Given the description of an element on the screen output the (x, y) to click on. 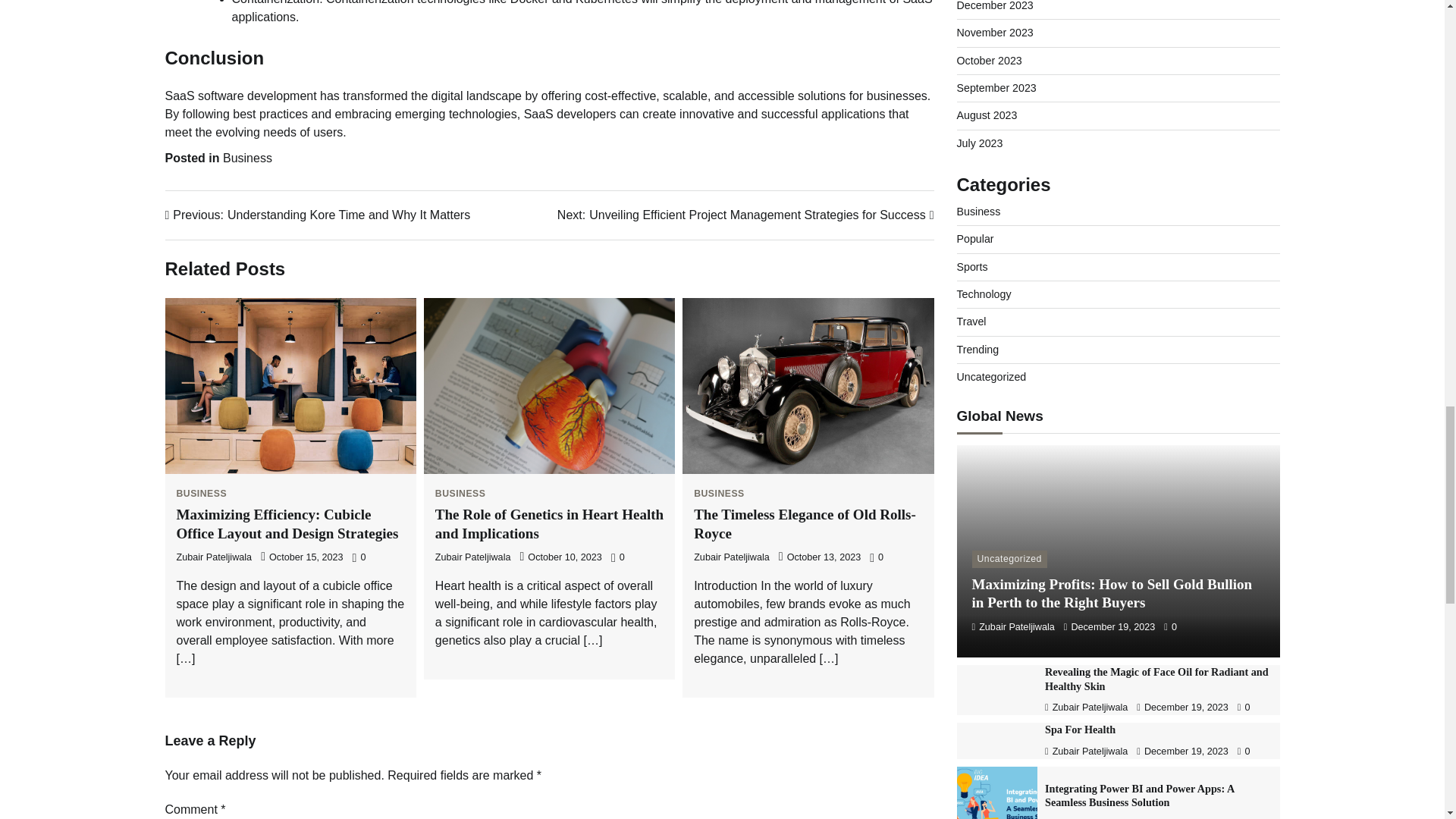
Zubair Pateljiwala (317, 215)
Zubair Pateljiwala (473, 557)
Business (213, 557)
The Role of Genetics in Heart Health and Implications (247, 157)
BUSINESS (549, 523)
BUSINESS (719, 492)
The Timeless Elegance of Old Rolls-Royce (201, 492)
